Given the description of an element on the screen output the (x, y) to click on. 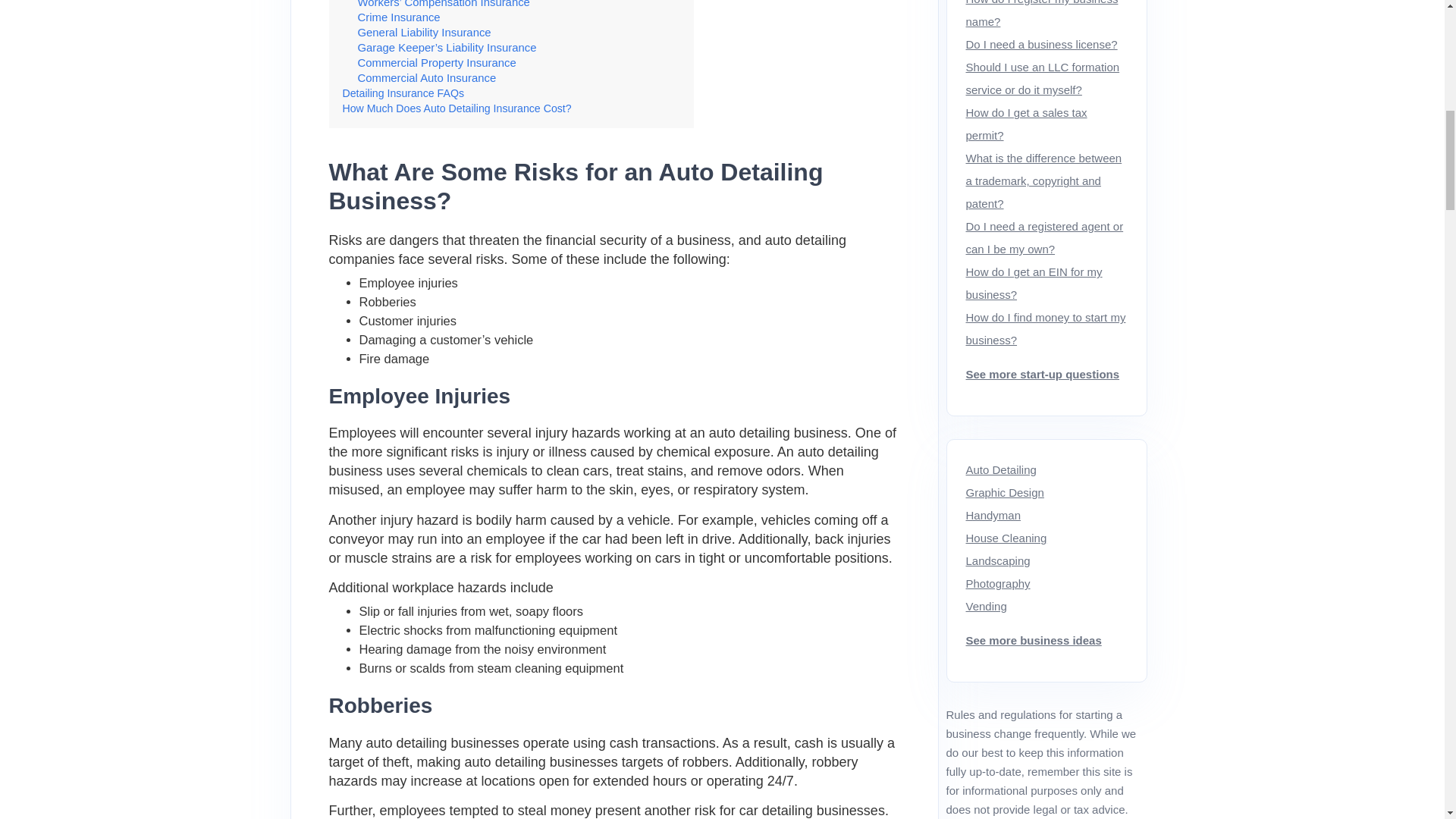
General Liability Insurance (425, 32)
Detailing Insurance FAQs (403, 92)
Commercial Property Insurance (437, 62)
General Liability Insurance (425, 32)
Crime Insurance (399, 17)
Crime Insurance (399, 17)
How Much Does Auto Detailing Insurance Cost? (457, 108)
Commercial Auto Insurance (427, 78)
